Given the description of an element on the screen output the (x, y) to click on. 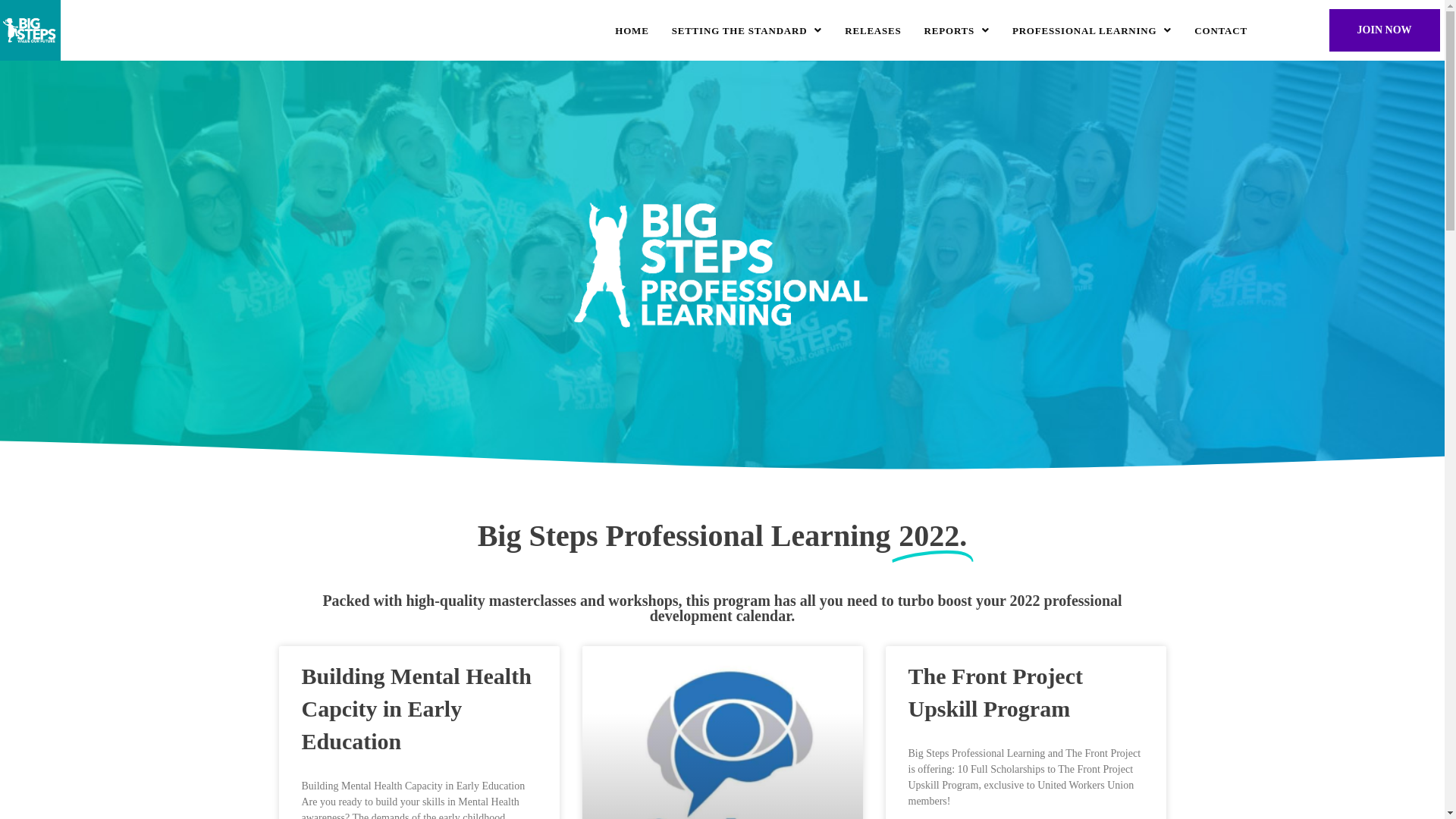
Building Mental Health Capcity in Early Education Element type: text (416, 708)
REPORTS Element type: text (957, 29)
PROFESSIONAL LEARNING Element type: text (1092, 29)
CONTACT Element type: text (1220, 29)
SETTING THE STANDARD Element type: text (747, 29)
The Front Project Upskill Program Element type: text (995, 692)
HOME Element type: text (631, 29)
RELEASES Element type: text (872, 29)
JOIN NOW Element type: text (1384, 30)
